Given the description of an element on the screen output the (x, y) to click on. 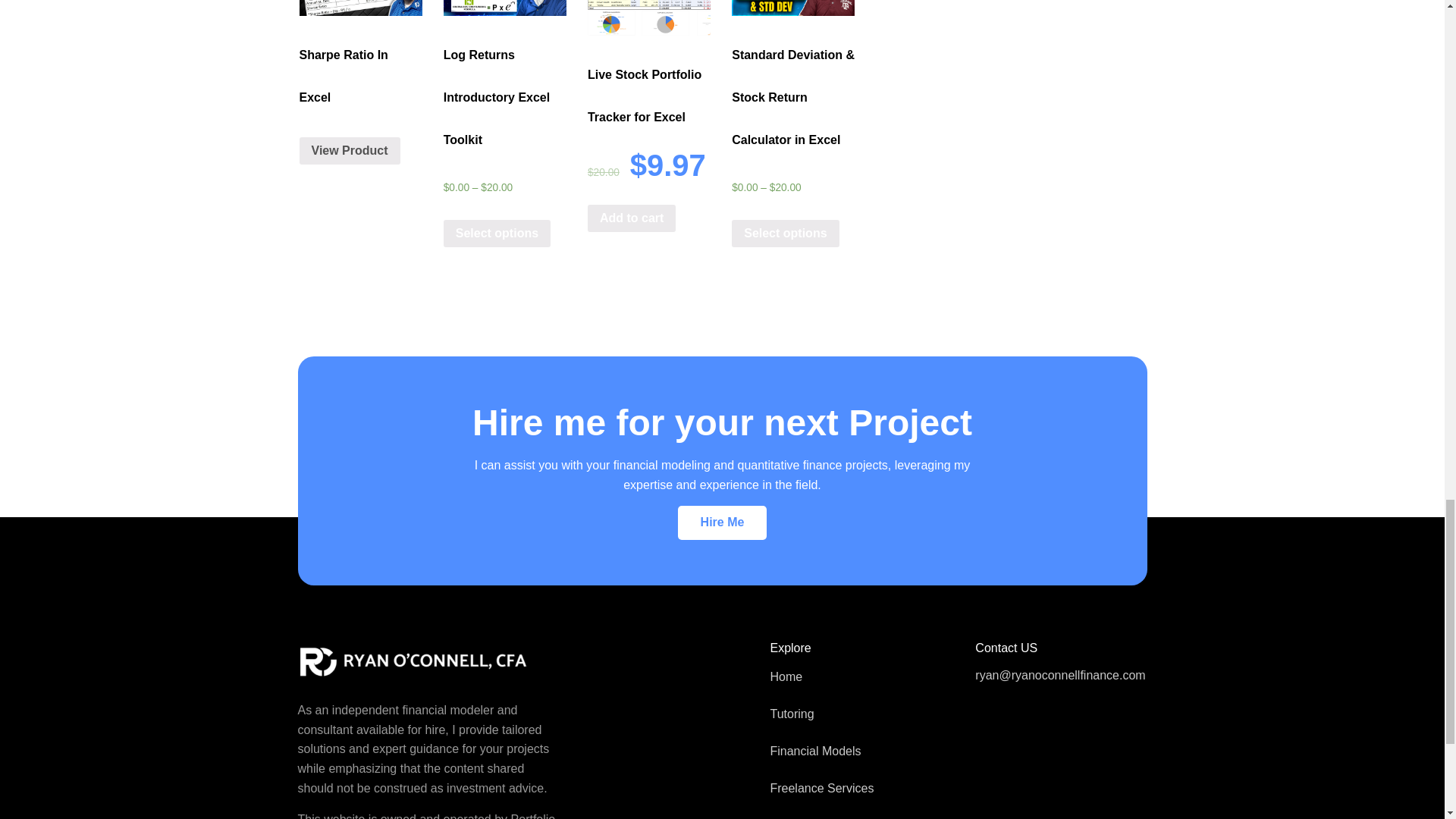
View Product (348, 150)
Select options (785, 233)
Add to cart (631, 217)
Select options (497, 233)
